Given the description of an element on the screen output the (x, y) to click on. 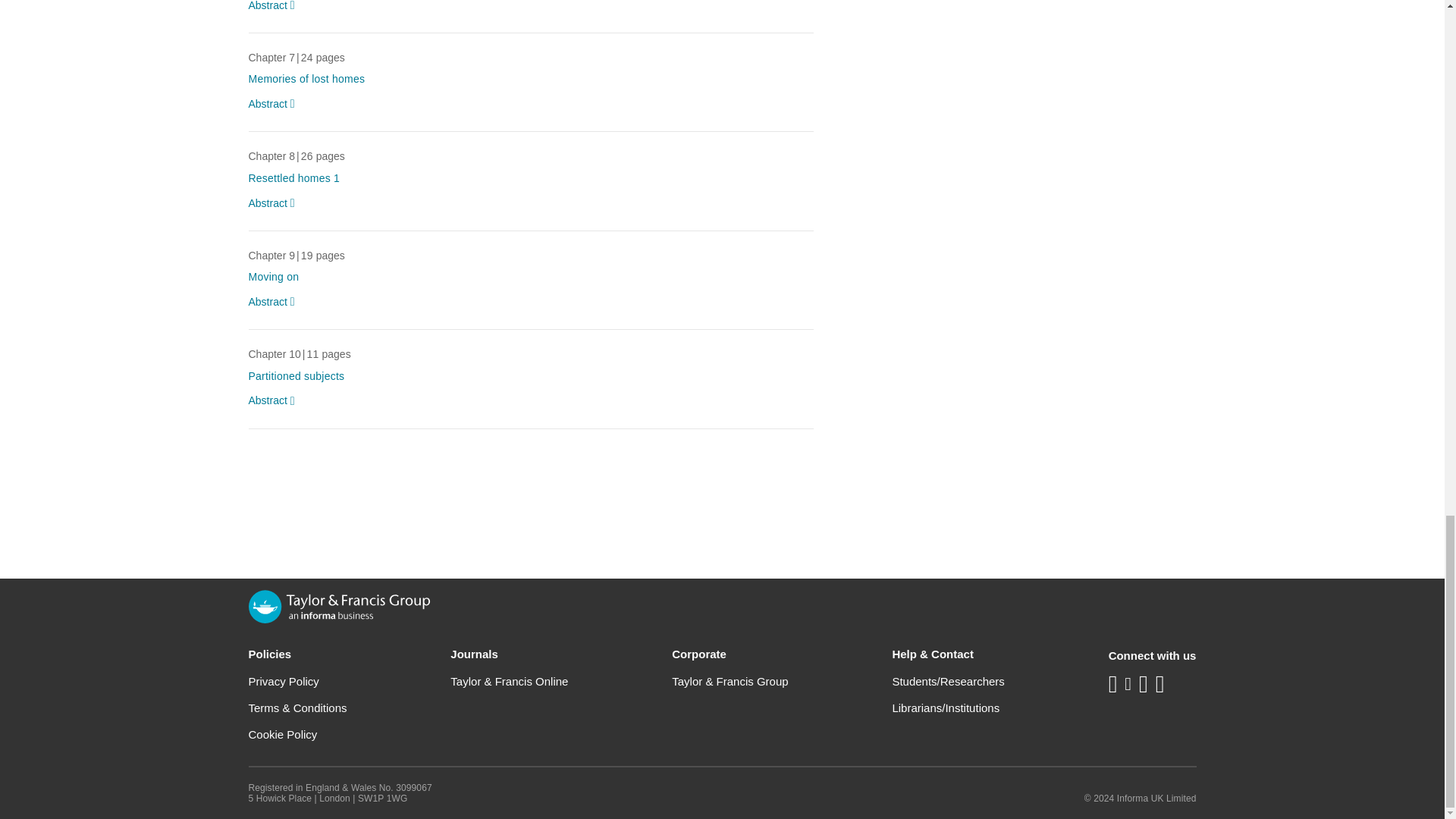
Abstract (273, 203)
Abstract (273, 6)
Abstract (273, 302)
Partitioned subjects (296, 376)
Privacy Policy (283, 681)
Abstract (273, 400)
Memories of lost homes (306, 78)
Cookie Policy (282, 734)
Moving on (273, 276)
Abstract (273, 104)
